Given the description of an element on the screen output the (x, y) to click on. 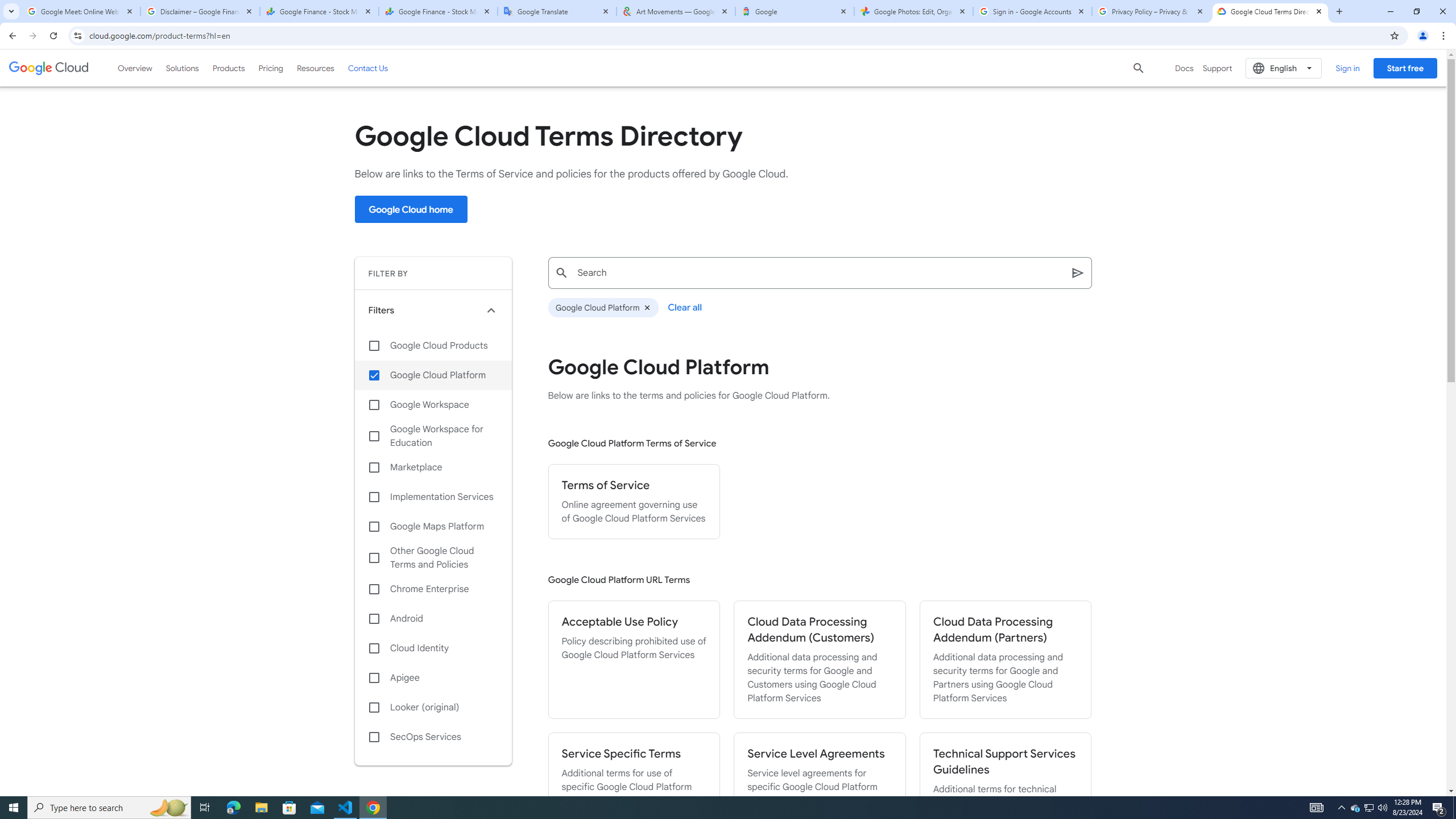
Support (1216, 67)
Cloud Identity (432, 648)
Sign in - Google Accounts (1032, 11)
Products (228, 67)
SecOps Services (432, 736)
Google Workspace (432, 404)
Apigee (432, 677)
